Given the description of an element on the screen output the (x, y) to click on. 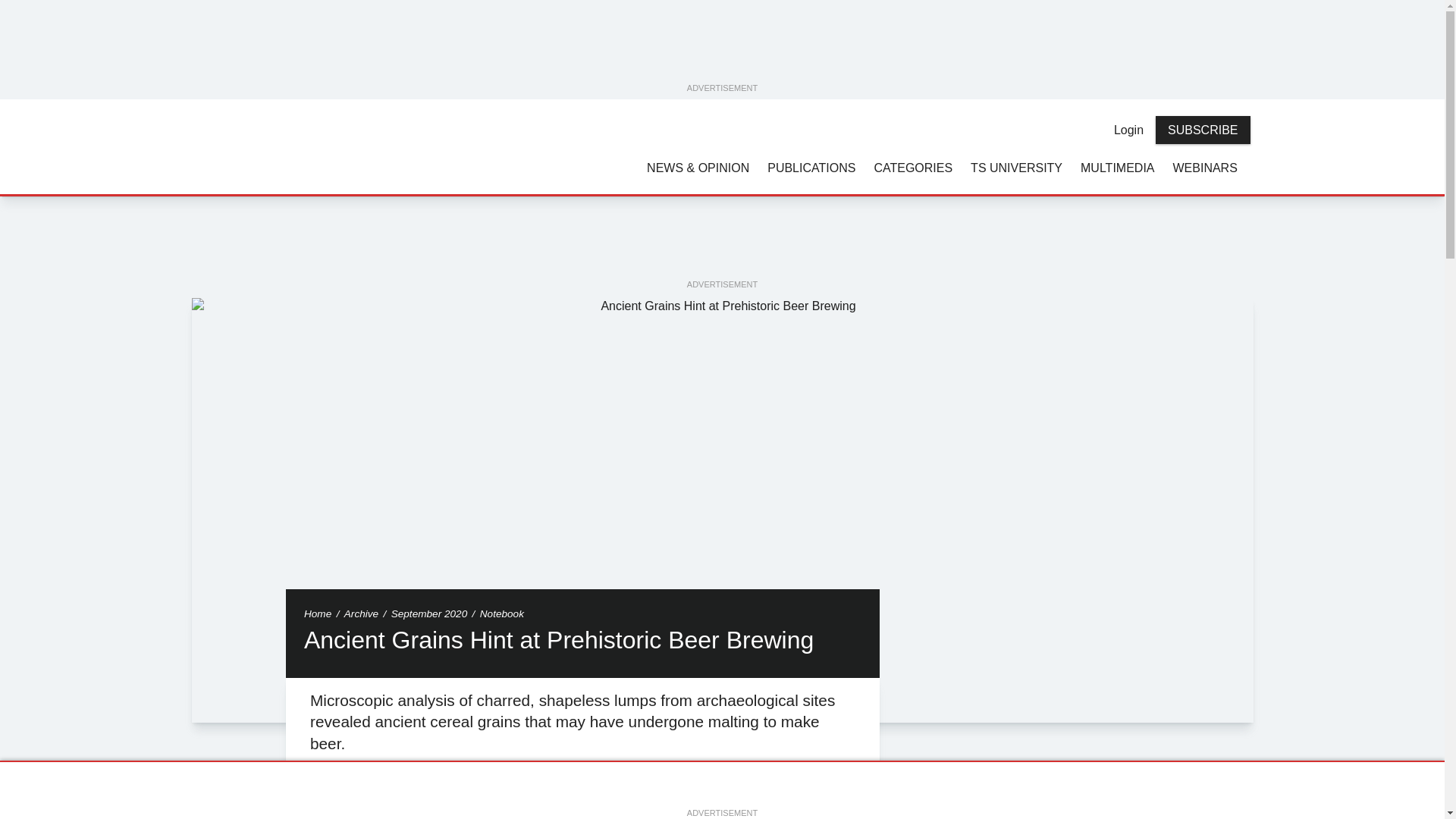
CATEGORIES (912, 167)
Login (1127, 130)
SUBSCRIBE (1202, 130)
TS UNIVERSITY (1015, 167)
Amanda Heidt (328, 785)
